Given the description of an element on the screen output the (x, y) to click on. 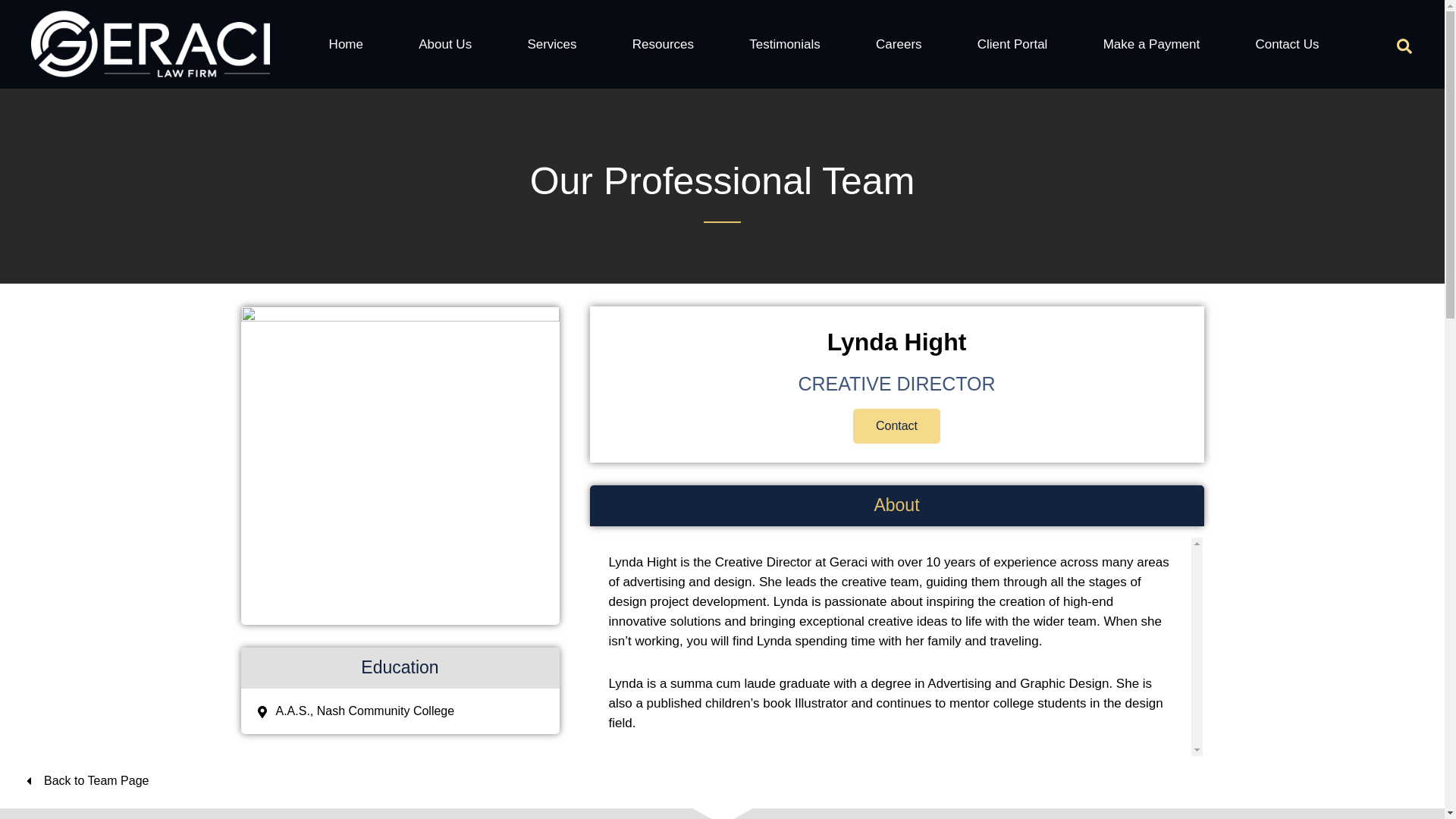
Services (551, 44)
Home (346, 44)
About Us (445, 44)
Make a Payment (1151, 44)
Careers (898, 44)
Testimonials (785, 44)
Client Portal (1012, 44)
Contact Us (1286, 44)
Resources (663, 44)
